Given the description of an element on the screen output the (x, y) to click on. 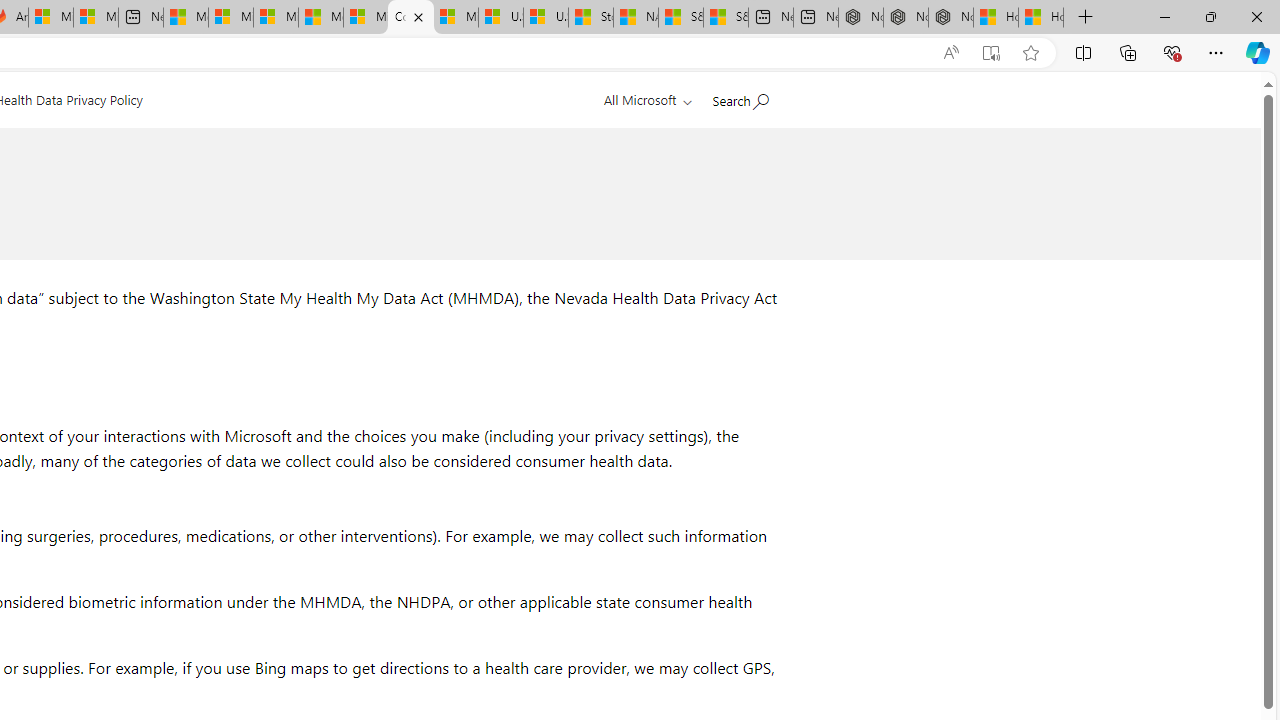
Microsoft account | Home (275, 17)
Consumer Health Data Privacy Policy (410, 17)
Search Microsoft.com (740, 97)
